Given the description of an element on the screen output the (x, y) to click on. 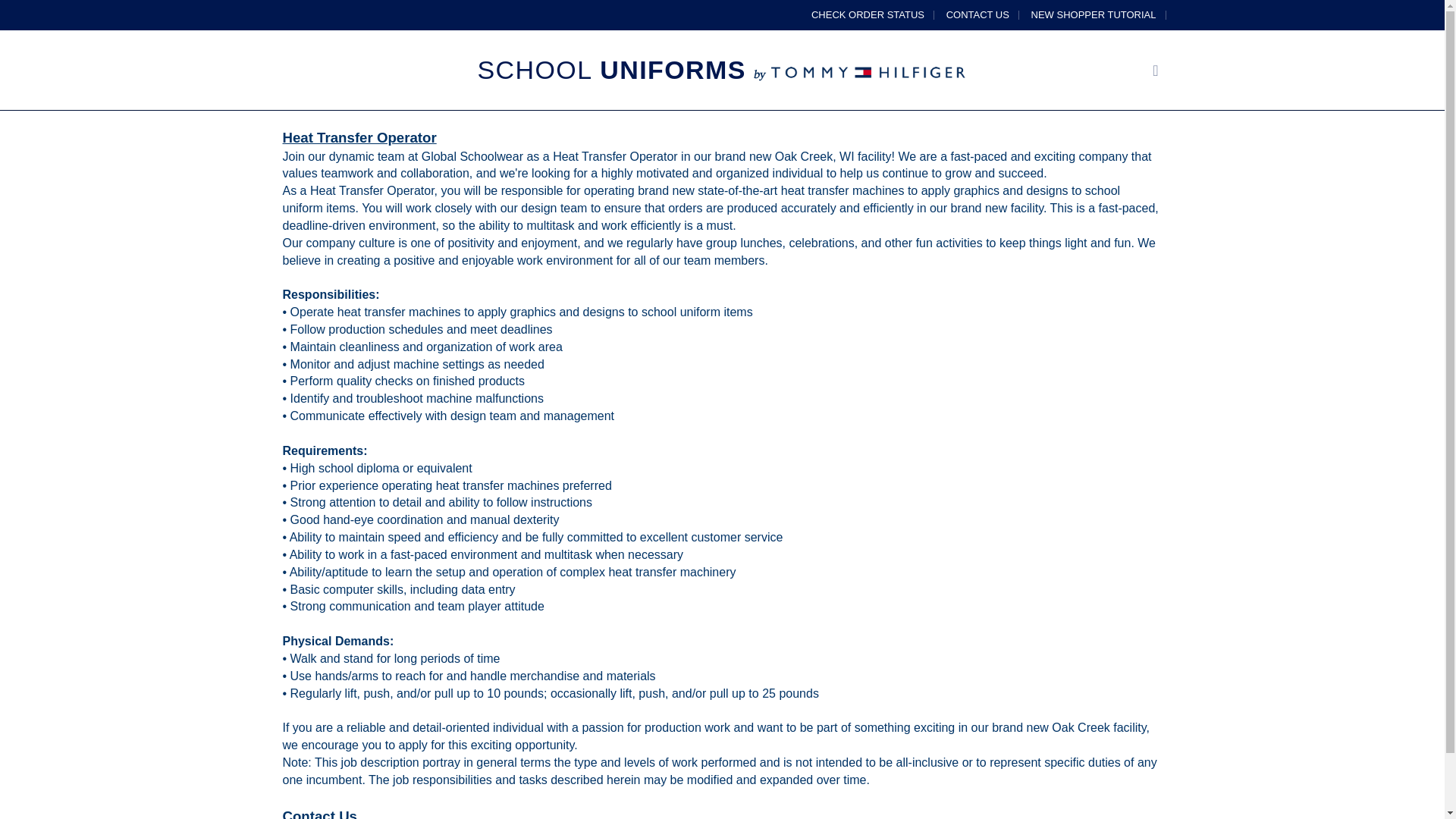
NEW SHOPPER TUTORIAL (1093, 14)
SCHOOL UNIFORMS (721, 75)
CHECK ORDER STATUS (867, 14)
CONTACT US (977, 14)
